Given the description of an element on the screen output the (x, y) to click on. 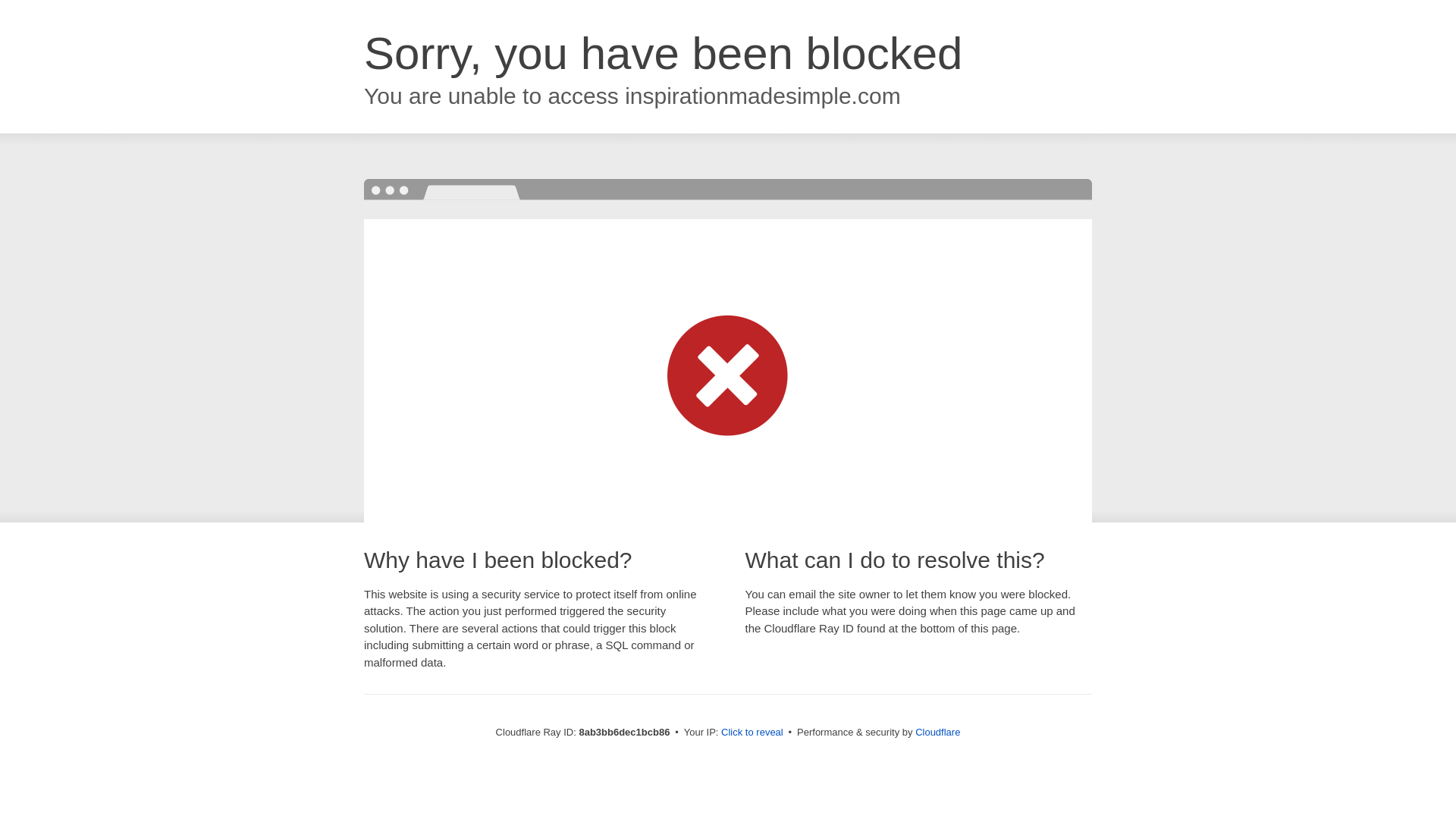
Cloudflare (937, 731)
Click to reveal (751, 732)
